Given the description of an element on the screen output the (x, y) to click on. 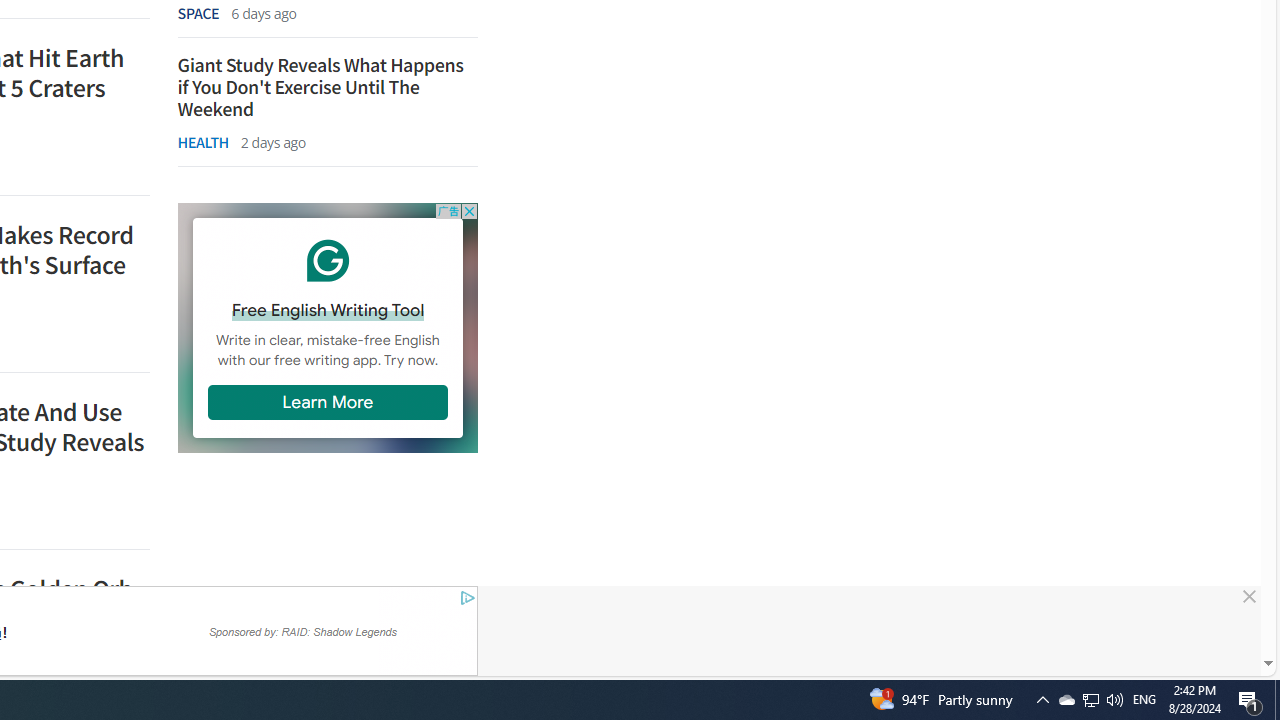
HEALTH (202, 142)
SPACE (198, 12)
